Given the description of an element on the screen output the (x, y) to click on. 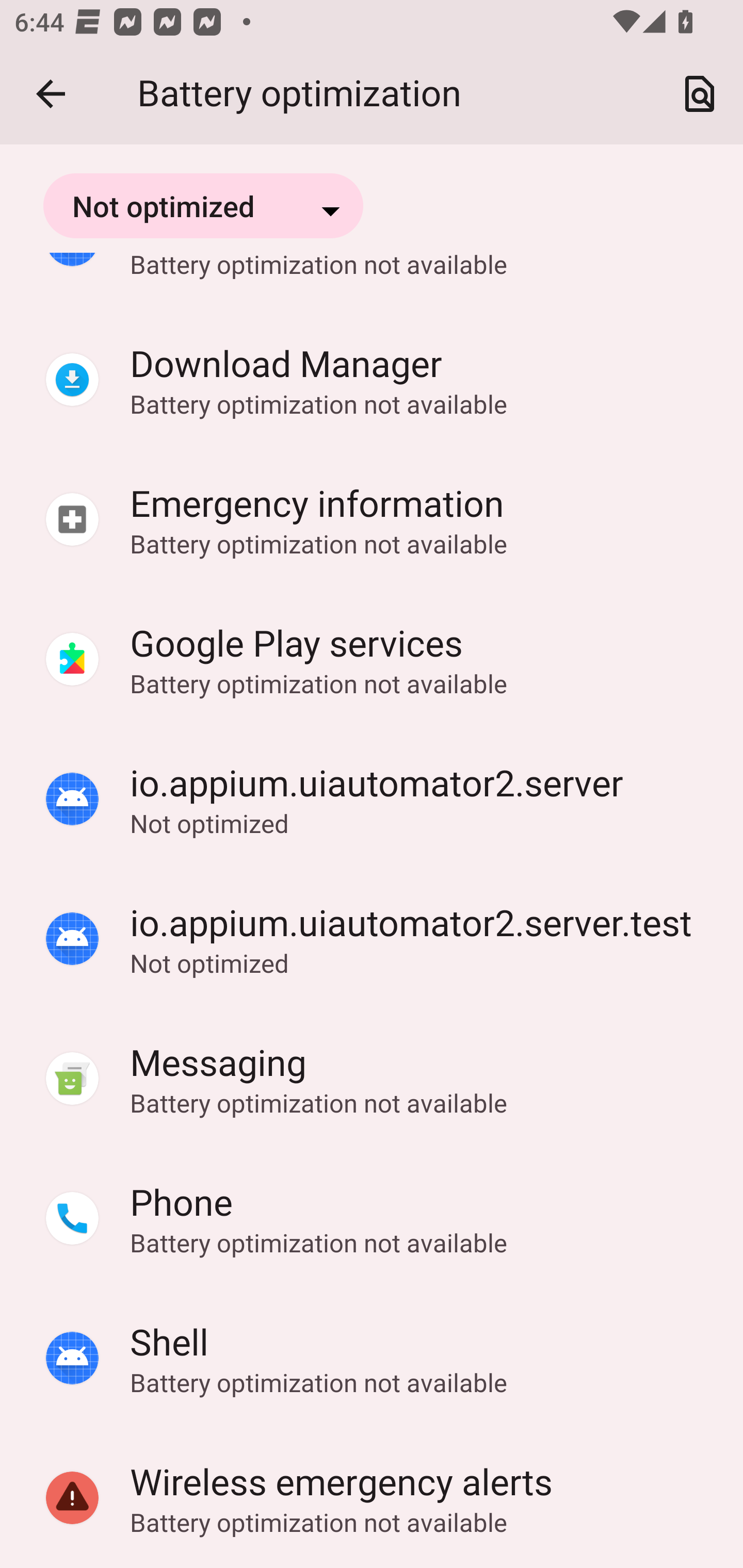
Navigate up (50, 93)
Search (699, 93)
Not optimized (203, 205)
Phone Phone Battery optimization not available (371, 1218)
Shell Shell Battery optimization not available (371, 1358)
